Given the description of an element on the screen output the (x, y) to click on. 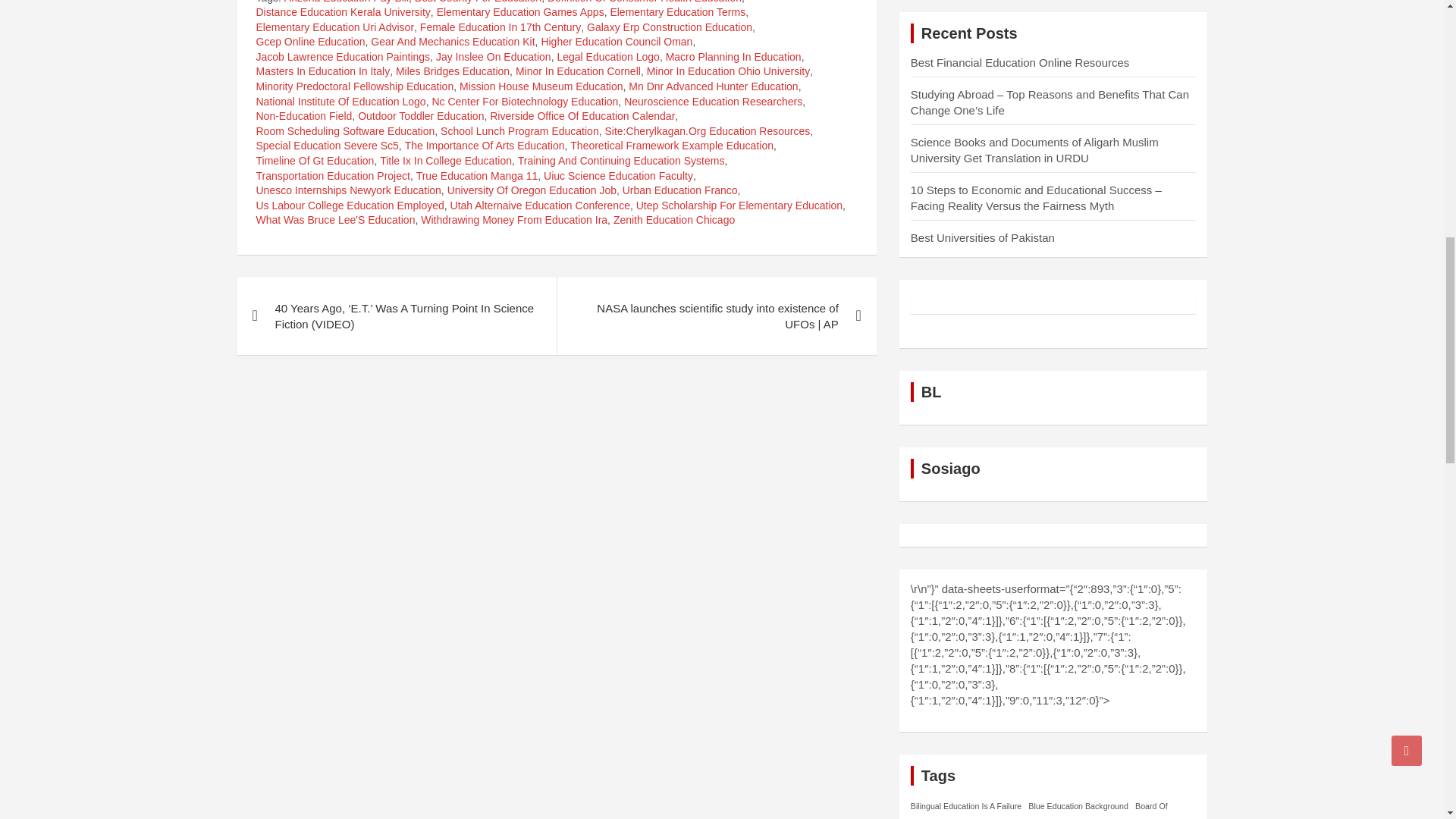
Best County For Education (477, 2)
Jay Inslee On Education (493, 57)
Legal Education Logo (607, 57)
Elementary Education Uri Advisor (335, 28)
Miles Bridges Education (452, 71)
Gear And Mechanics Education Kit (452, 42)
Higher Education Council Oman (616, 42)
Elementary Education Terms (677, 12)
Elementary Education Games Apps (520, 12)
Arizona Education Pay Bill (346, 2)
